Given the description of an element on the screen output the (x, y) to click on. 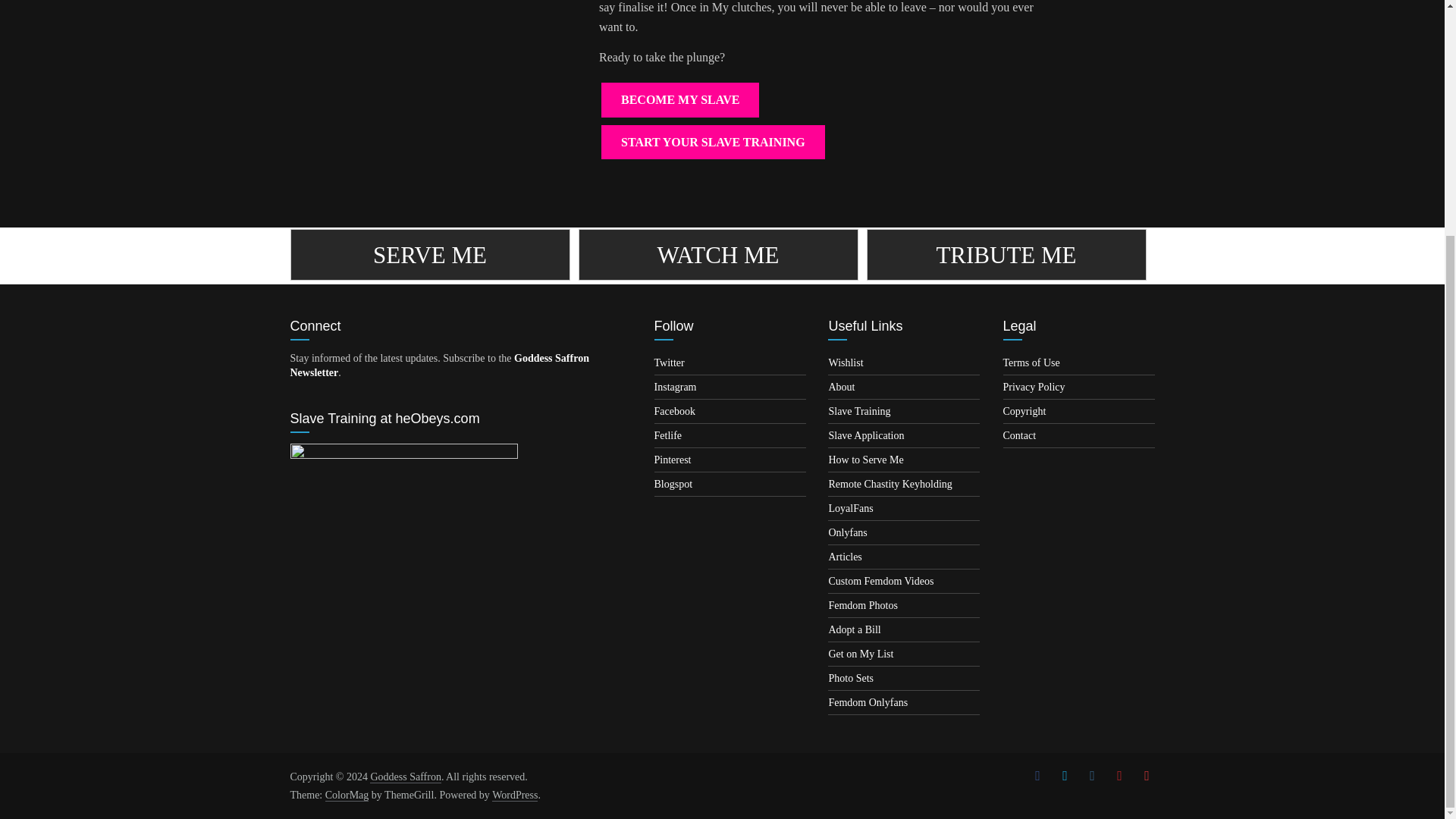
Pinterest (672, 460)
Blogspot (673, 483)
SERVE ME (429, 254)
Goddess Saffron Newsletter (438, 365)
Slave Training (858, 410)
Facebook (674, 410)
Fetlife (667, 435)
BECOME MY SLAVE (679, 99)
TRIBUTE ME (1005, 254)
Twitter (668, 362)
Goddess Saffron (405, 776)
Wishlist (845, 362)
About (841, 387)
Remote Chastity Keyholding (890, 483)
START YOUR SLAVE TRAINING (713, 142)
